Given the description of an element on the screen output the (x, y) to click on. 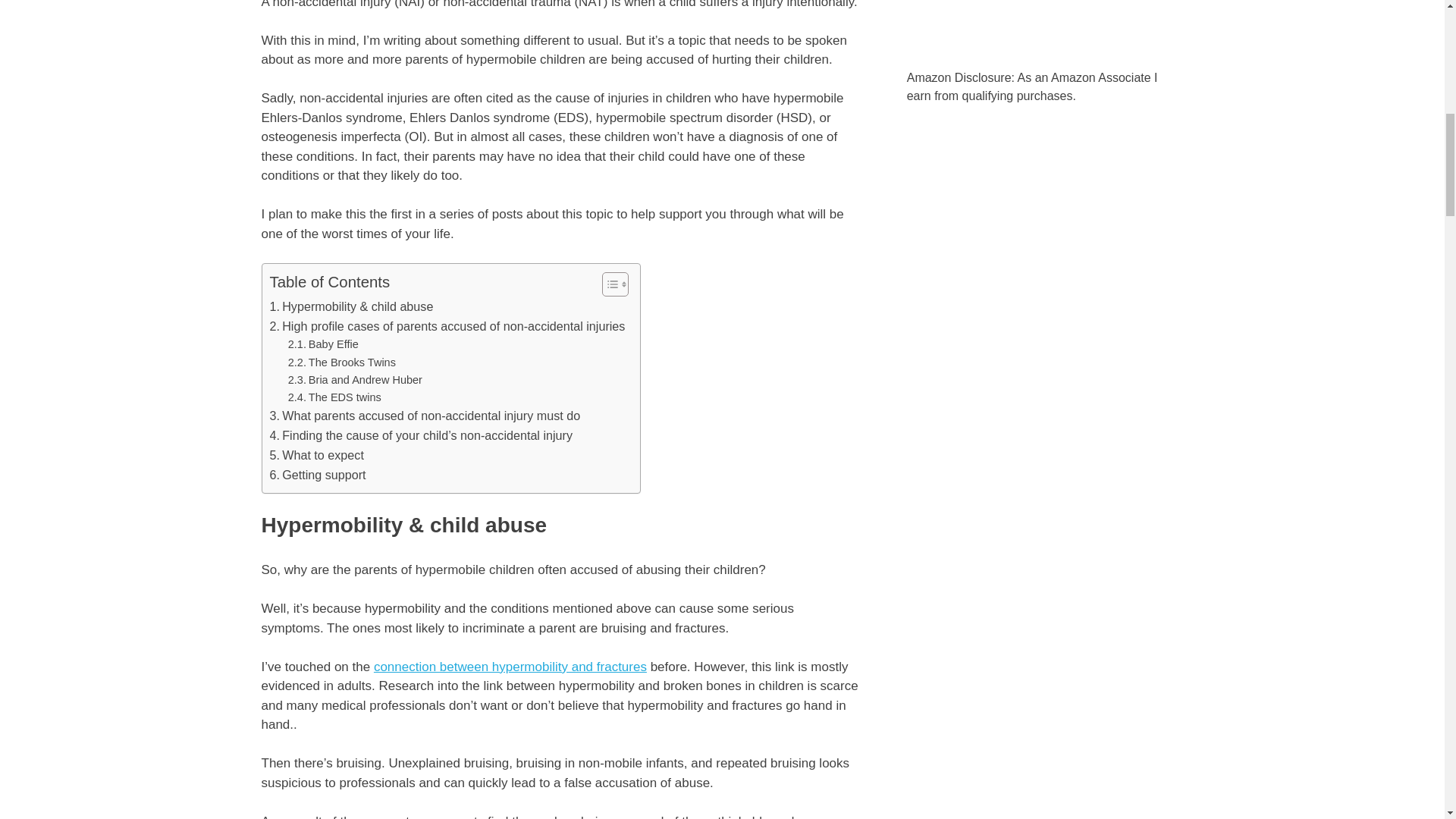
The EDS twins (334, 397)
The EDS twins (334, 397)
Getting support (317, 475)
What parents accused of non-accidental injury must do (424, 415)
Baby Effie (323, 343)
What to expect (316, 455)
Bria and Andrew Huber (355, 380)
Baby Effie (323, 343)
Bria and Andrew Huber (355, 380)
